Given the description of an element on the screen output the (x, y) to click on. 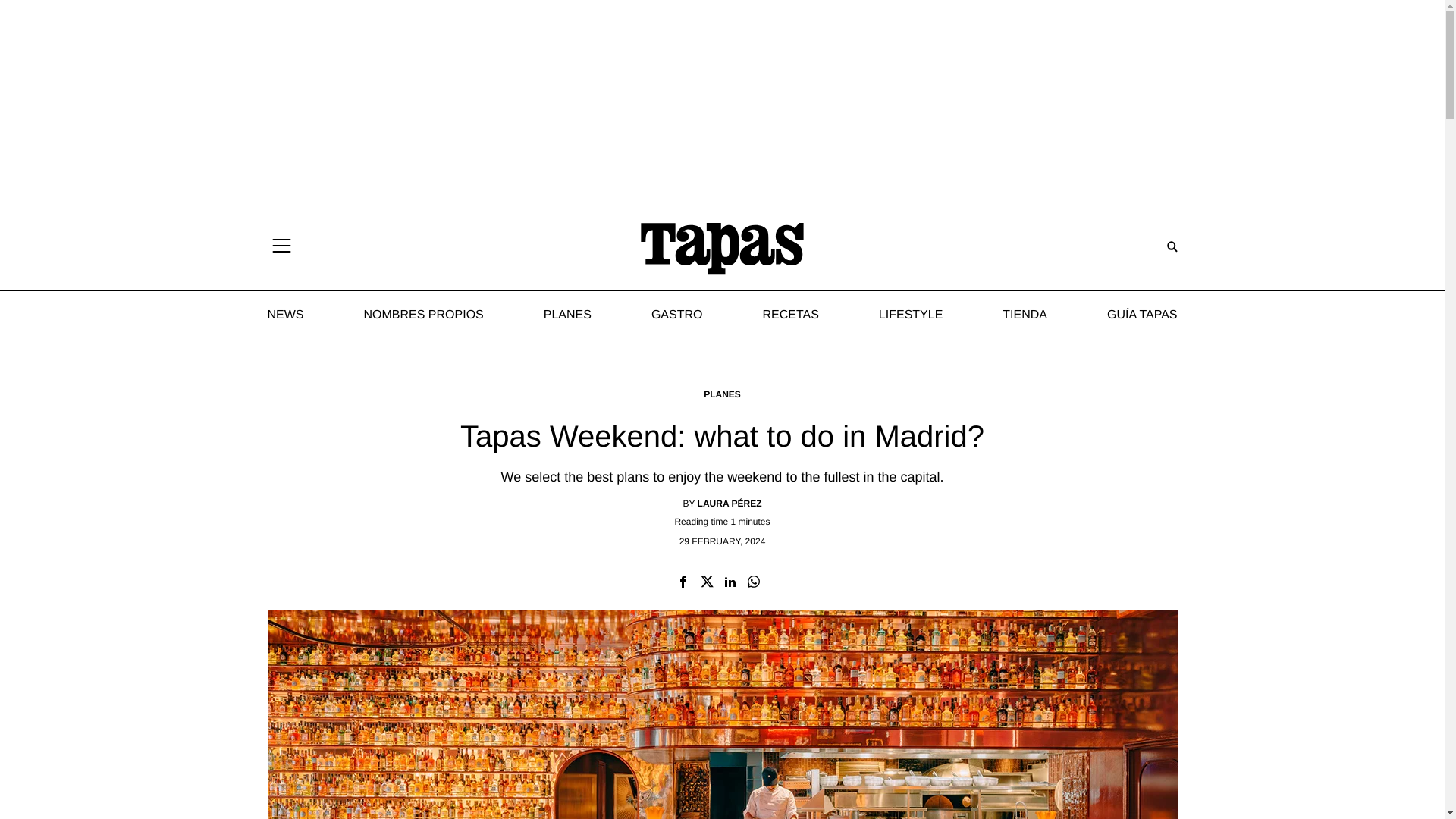
GASTRO (676, 315)
PLANES (722, 394)
Planes (722, 394)
NOMBRES PROPIOS (423, 315)
RECETAS (789, 315)
LIFESTYLE (910, 315)
PLANES (567, 315)
TIENDA (1024, 315)
